Given the description of an element on the screen output the (x, y) to click on. 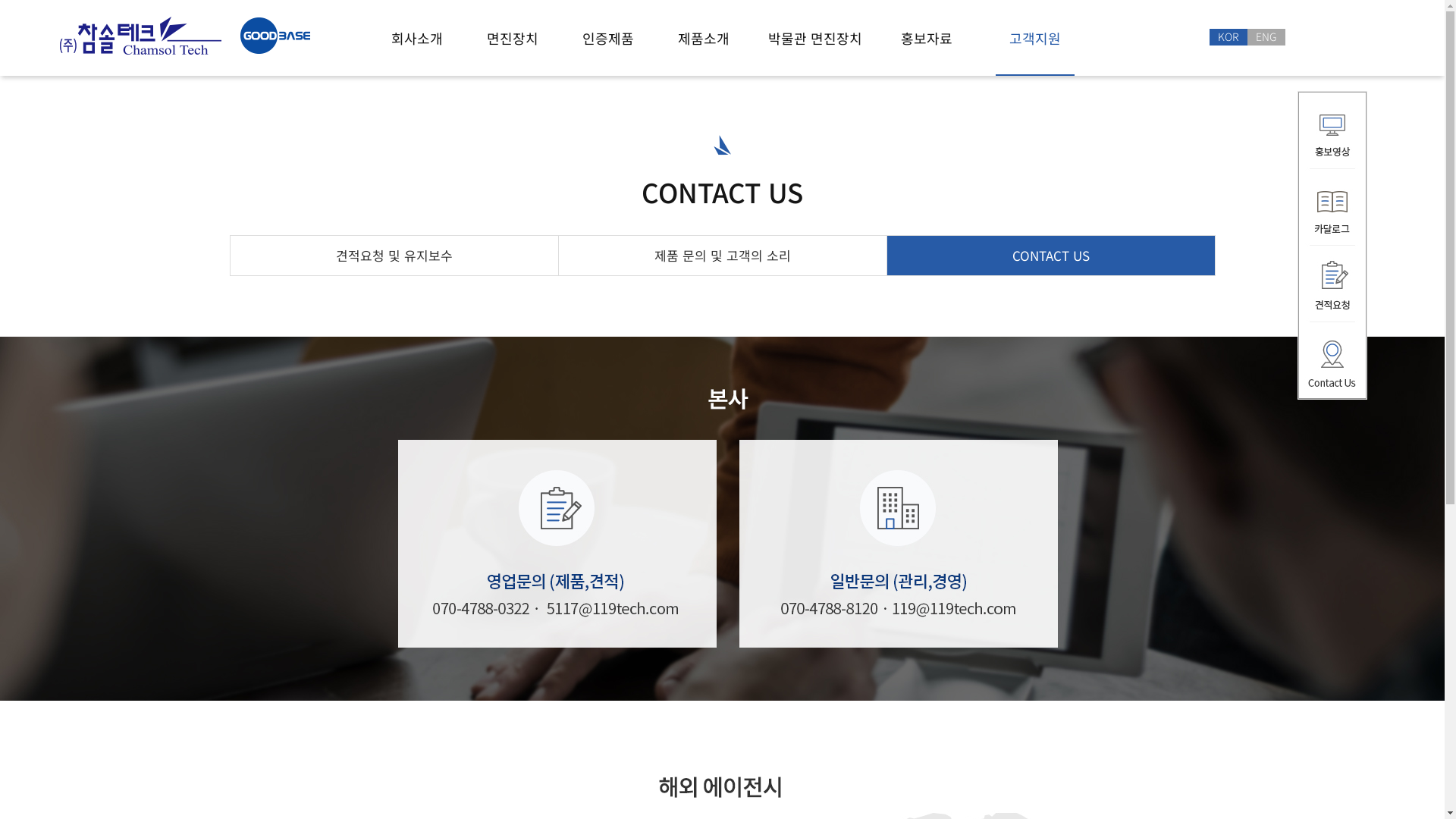
CONTACT US Element type: text (1051, 255)
ENG Element type: text (1266, 36)
